Given the description of an element on the screen output the (x, y) to click on. 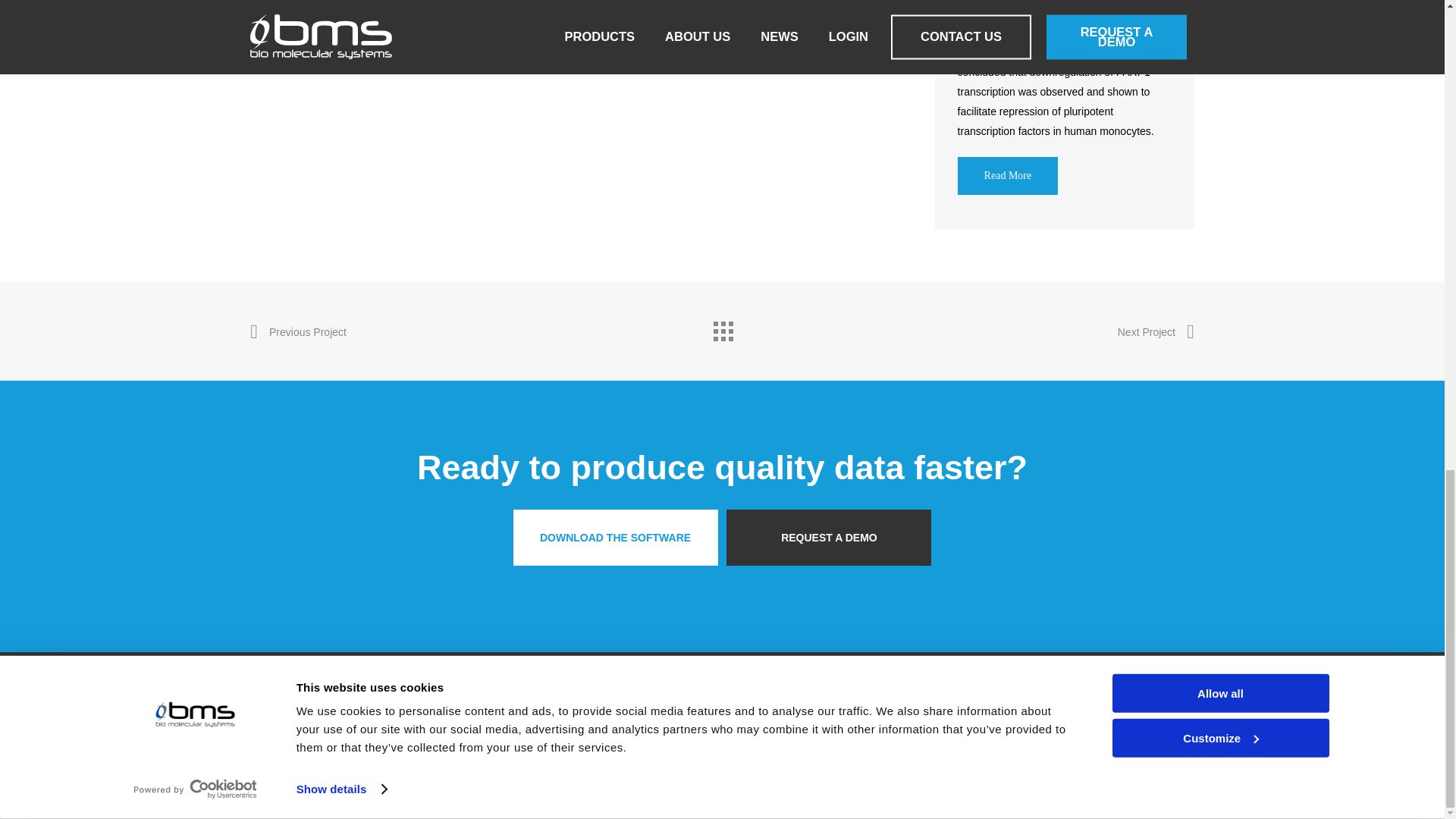
Back to all projects (721, 327)
